Given the description of an element on the screen output the (x, y) to click on. 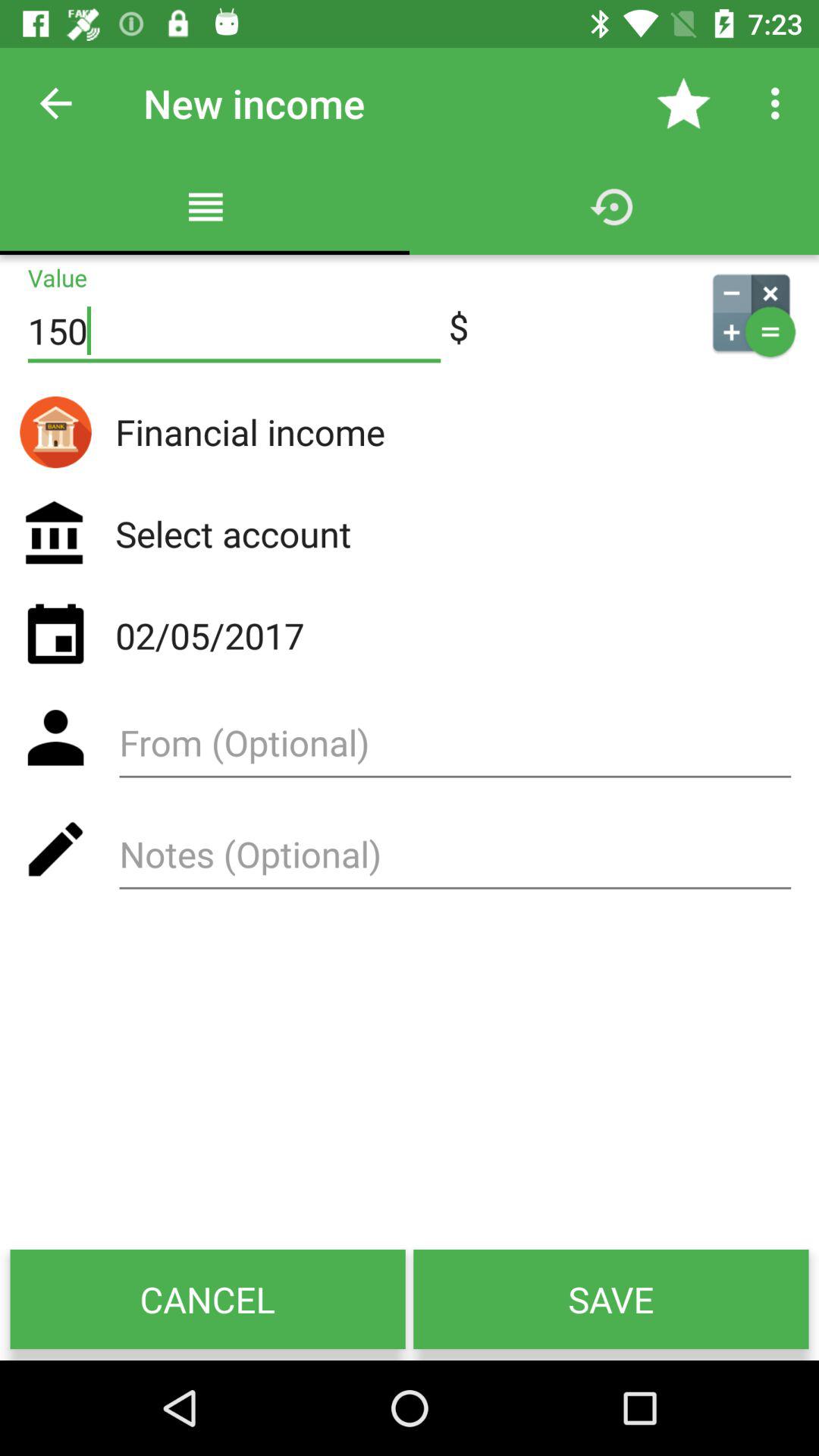
text box for notes (455, 859)
